Given the description of an element on the screen output the (x, y) to click on. 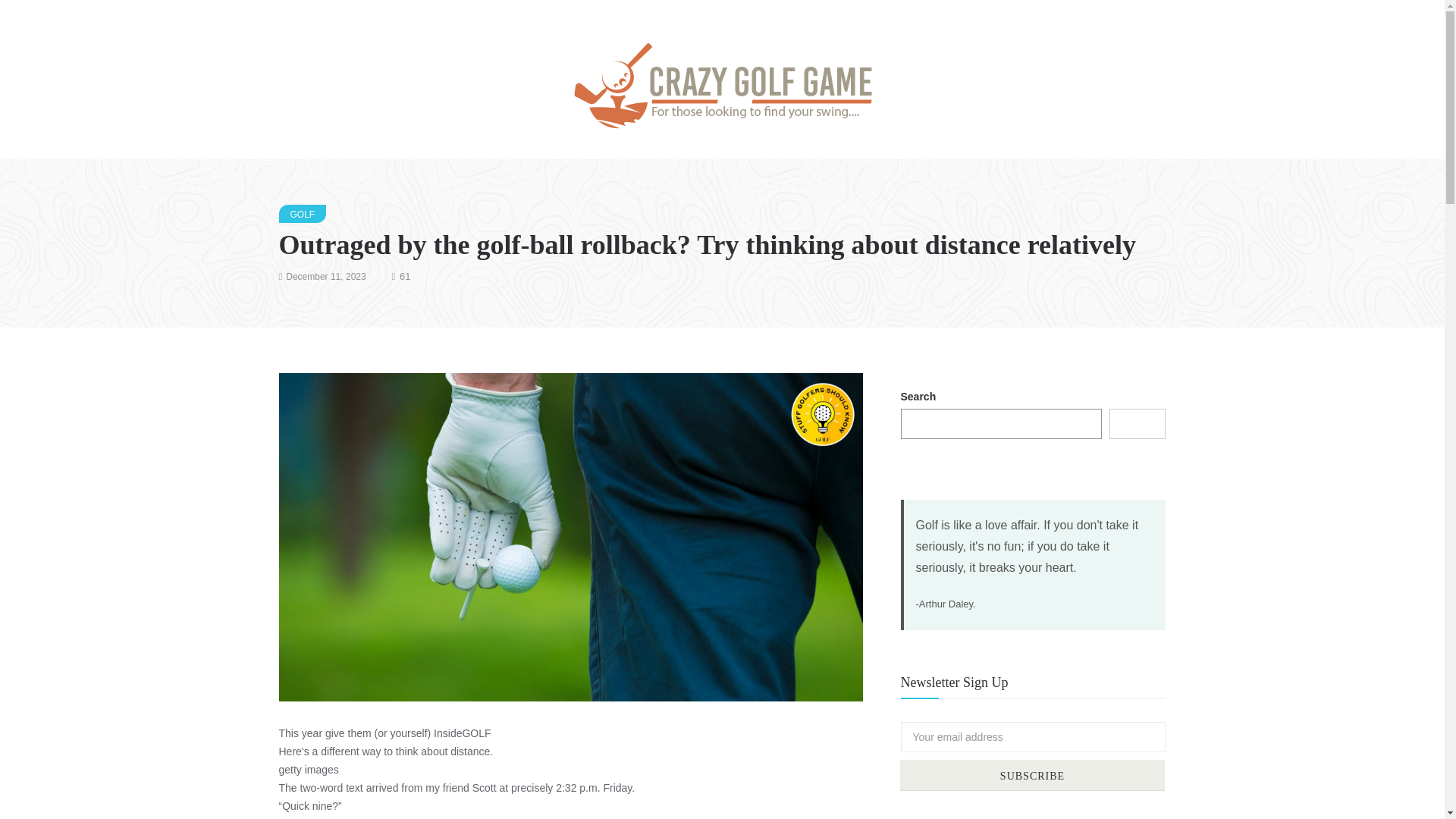
December 11, 2023 (325, 276)
Subscribe (1031, 775)
busy week (337, 818)
GOLF (302, 213)
